Given the description of an element on the screen output the (x, y) to click on. 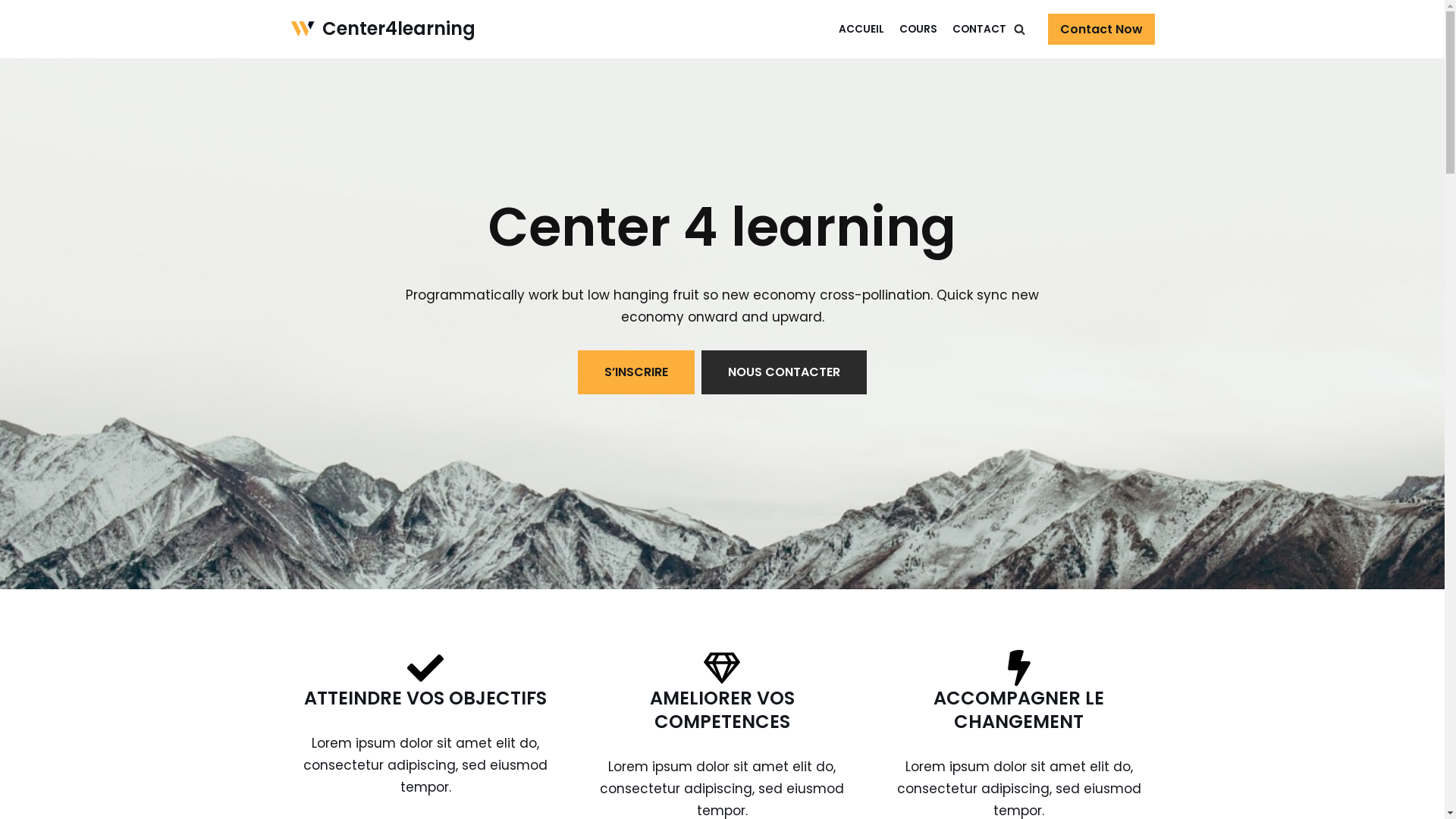
Contact Now Element type: text (1101, 29)
Aller au contenu Element type: text (11, 31)
ACCUEIL Element type: text (861, 28)
NOUS CONTACTER Element type: text (783, 372)
CONTACT Element type: text (979, 28)
COURS Element type: text (918, 28)
Center4learning Element type: text (381, 28)
